Given the description of an element on the screen output the (x, y) to click on. 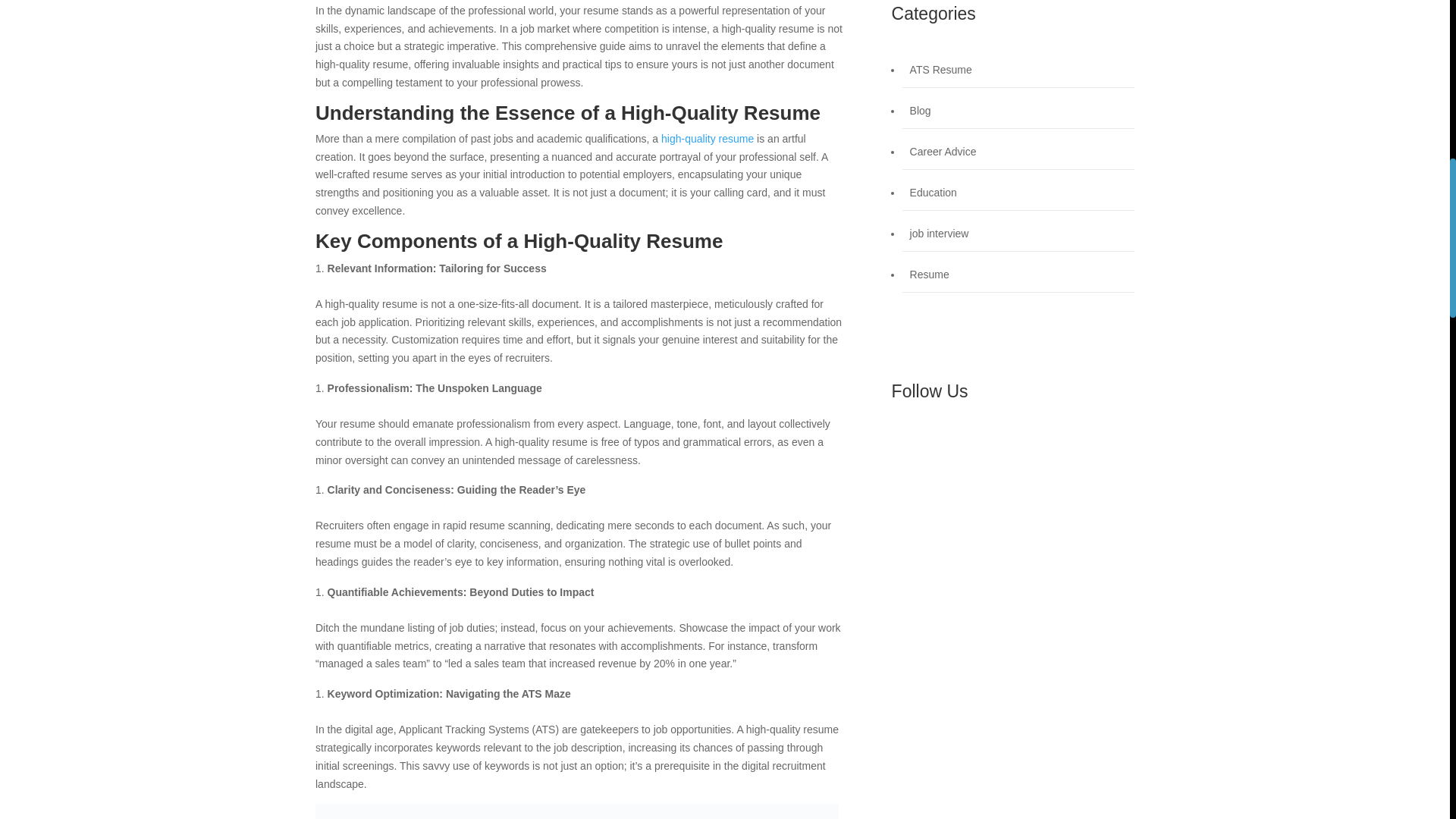
Follow on LinkedIn (964, 442)
high-quality resume (707, 138)
Follow on Facebook (903, 442)
Follow on Instagram (933, 442)
